Given the description of an element on the screen output the (x, y) to click on. 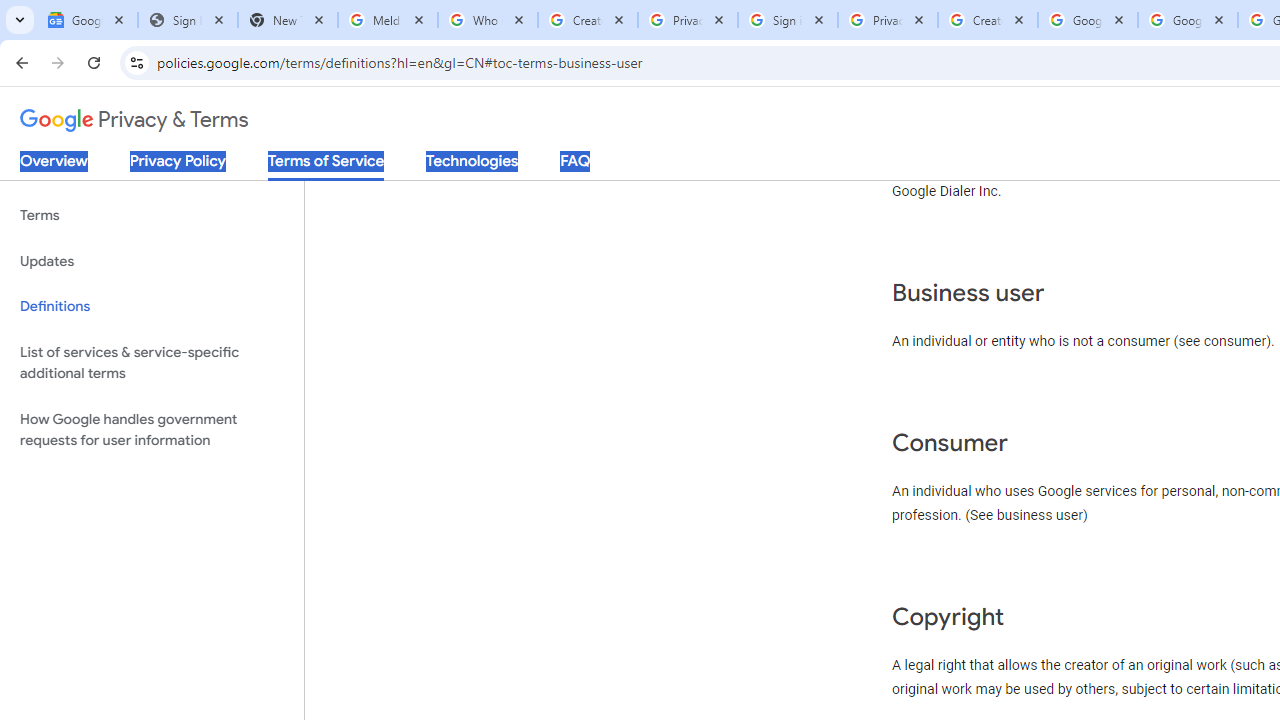
Who is my administrator? - Google Account Help (487, 20)
New Tab (287, 20)
Google News (87, 20)
Create your Google Account (988, 20)
How Google handles government requests for user information (152, 429)
Sign in - Google Accounts (788, 20)
